Given the description of an element on the screen output the (x, y) to click on. 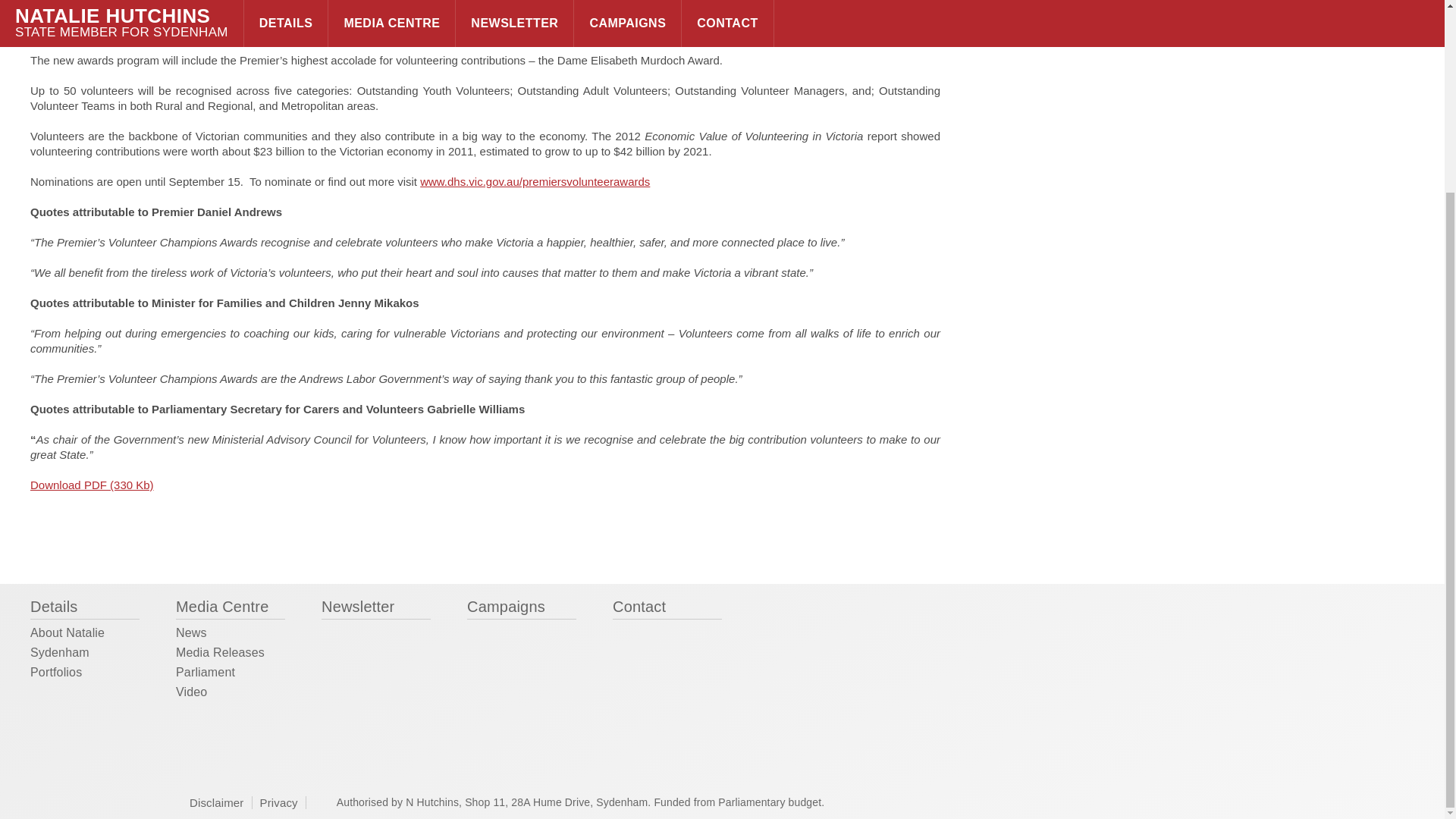
Sydenham (59, 656)
Details (84, 608)
Video (191, 695)
Media Centre (230, 608)
News (191, 637)
Media Releases (220, 656)
Portfolios (55, 676)
Campaigns (521, 608)
Contact (667, 608)
Parliament (205, 676)
